Given the description of an element on the screen output the (x, y) to click on. 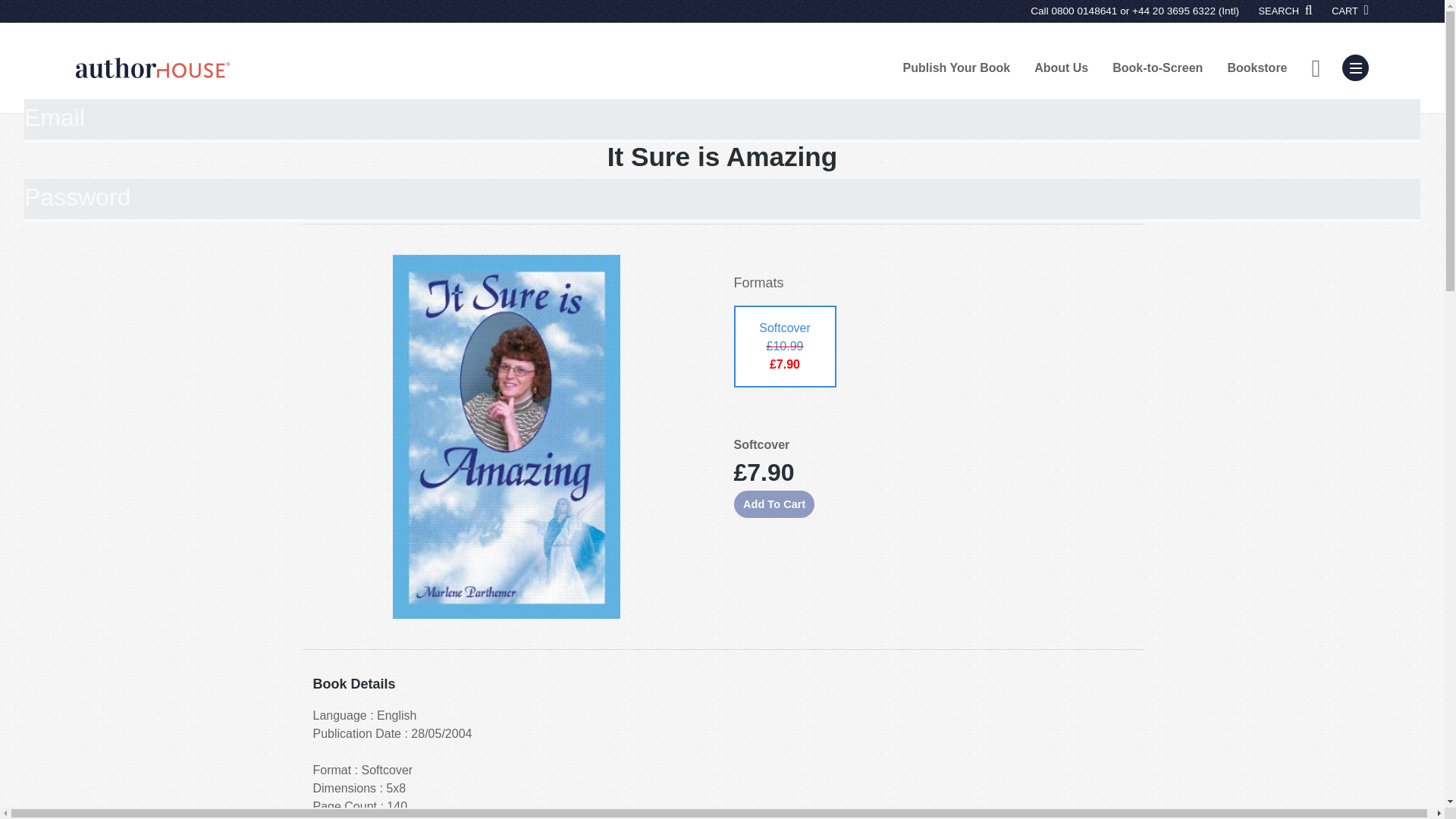
Book-to-Screen (1157, 67)
About Us (1061, 67)
Add To Cart (773, 503)
Bookstore (1256, 67)
Menu (1355, 67)
Publish Your Book (957, 67)
CART (1350, 11)
SEARCH (1286, 11)
